Given the description of an element on the screen output the (x, y) to click on. 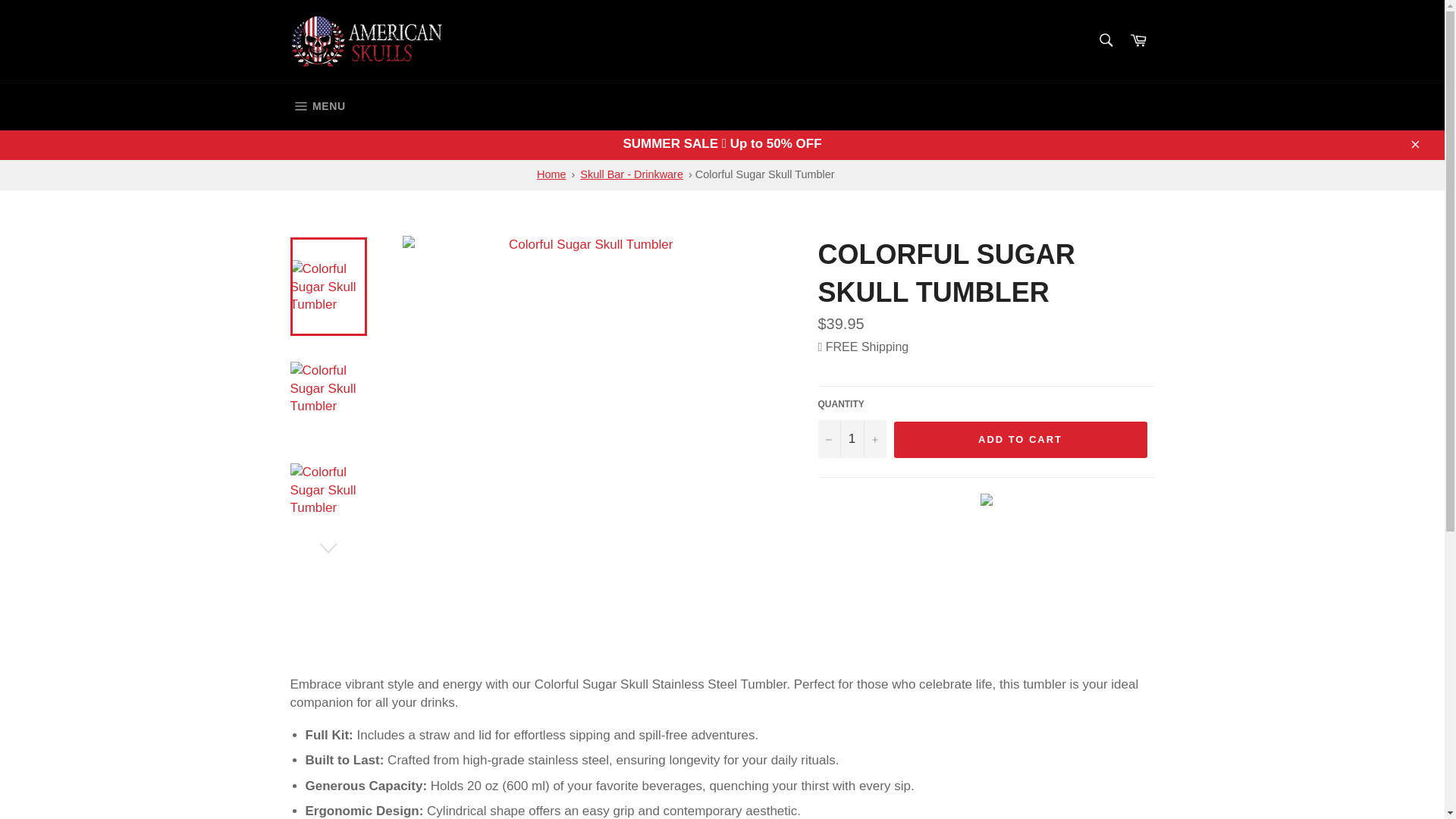
Home (551, 174)
1 (850, 438)
Skull Bar - Drinkware (630, 174)
